Given the description of an element on the screen output the (x, y) to click on. 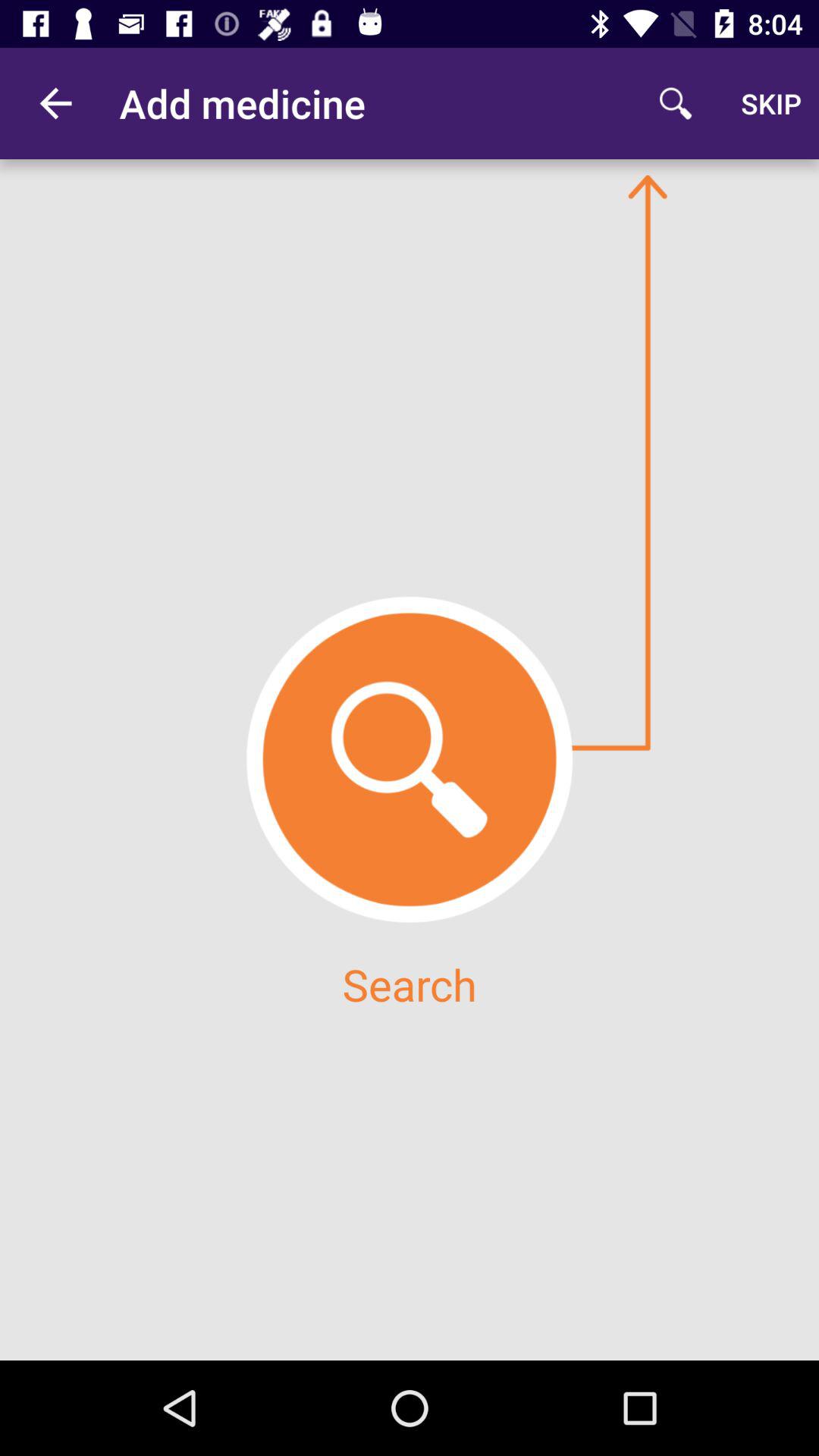
choose the item to the left of the add medicine icon (55, 103)
